Given the description of an element on the screen output the (x, y) to click on. 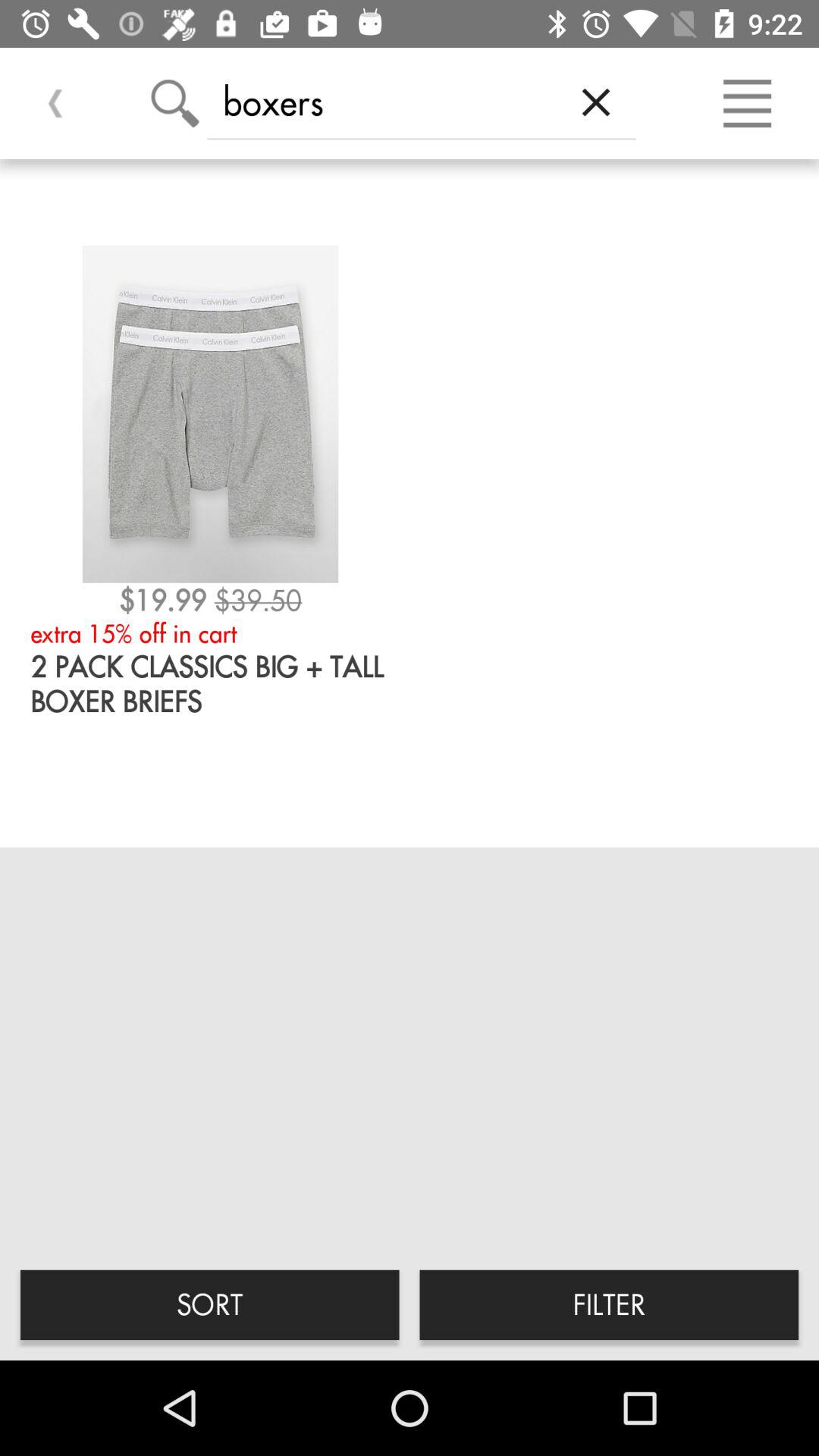
select filter (608, 1304)
